Given the description of an element on the screen output the (x, y) to click on. 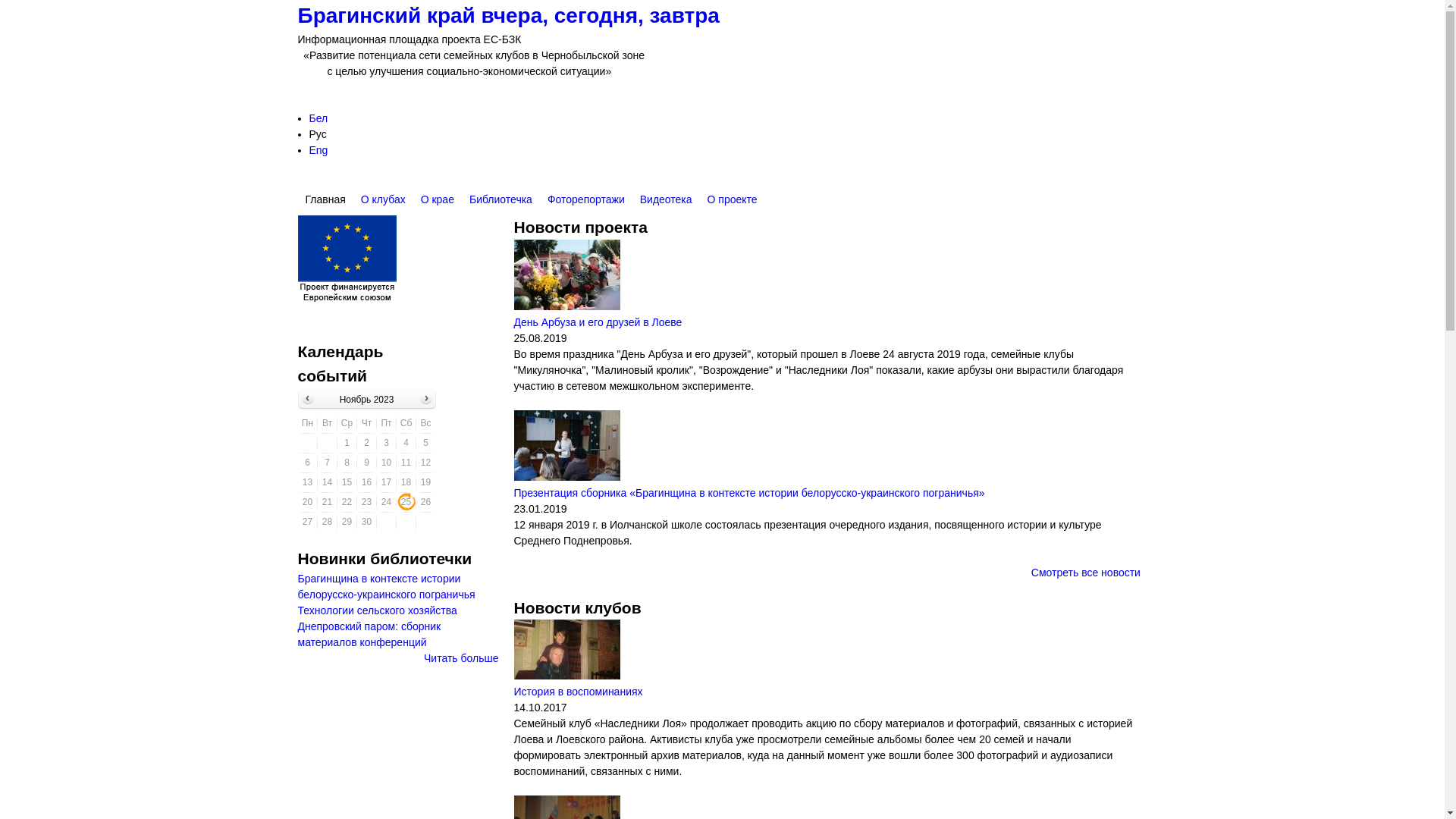
Eng Element type: text (318, 150)
